Given the description of an element on the screen output the (x, y) to click on. 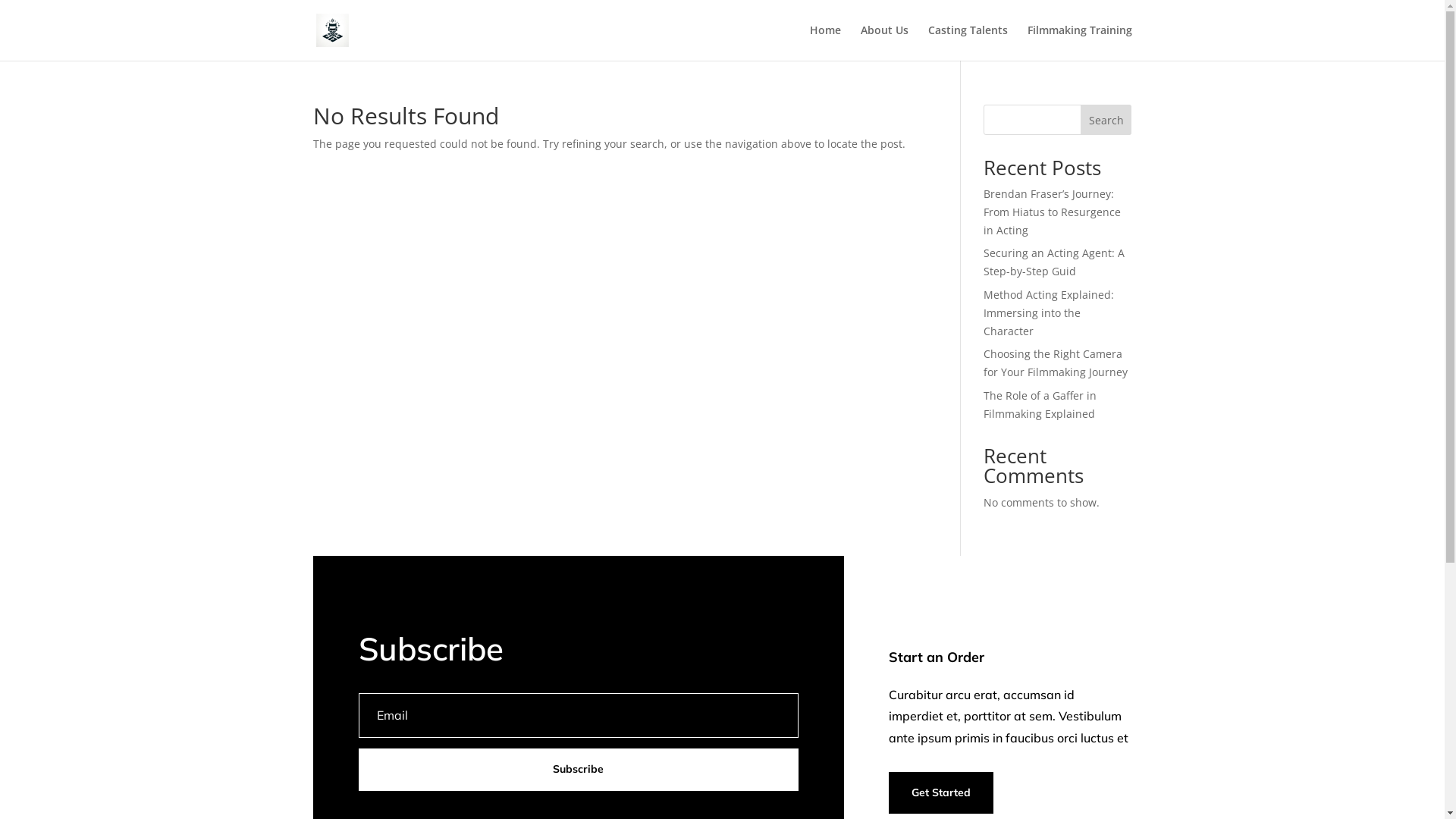
Get Started Element type: text (940, 792)
Casting Talents Element type: text (967, 42)
The Role of a Gaffer in Filmmaking Explained Element type: text (1039, 404)
Home Element type: text (824, 42)
Search Element type: text (1106, 119)
About Us Element type: text (883, 42)
Securing an Acting Agent: A Step-by-Step Guid Element type: text (1053, 261)
Choosing the Right Camera for Your Filmmaking Journey Element type: text (1055, 362)
Subscribe Element type: text (577, 769)
Filmmaking Training Element type: text (1078, 42)
Method Acting Explained: Immersing into the Character Element type: text (1048, 312)
